Given the description of an element on the screen output the (x, y) to click on. 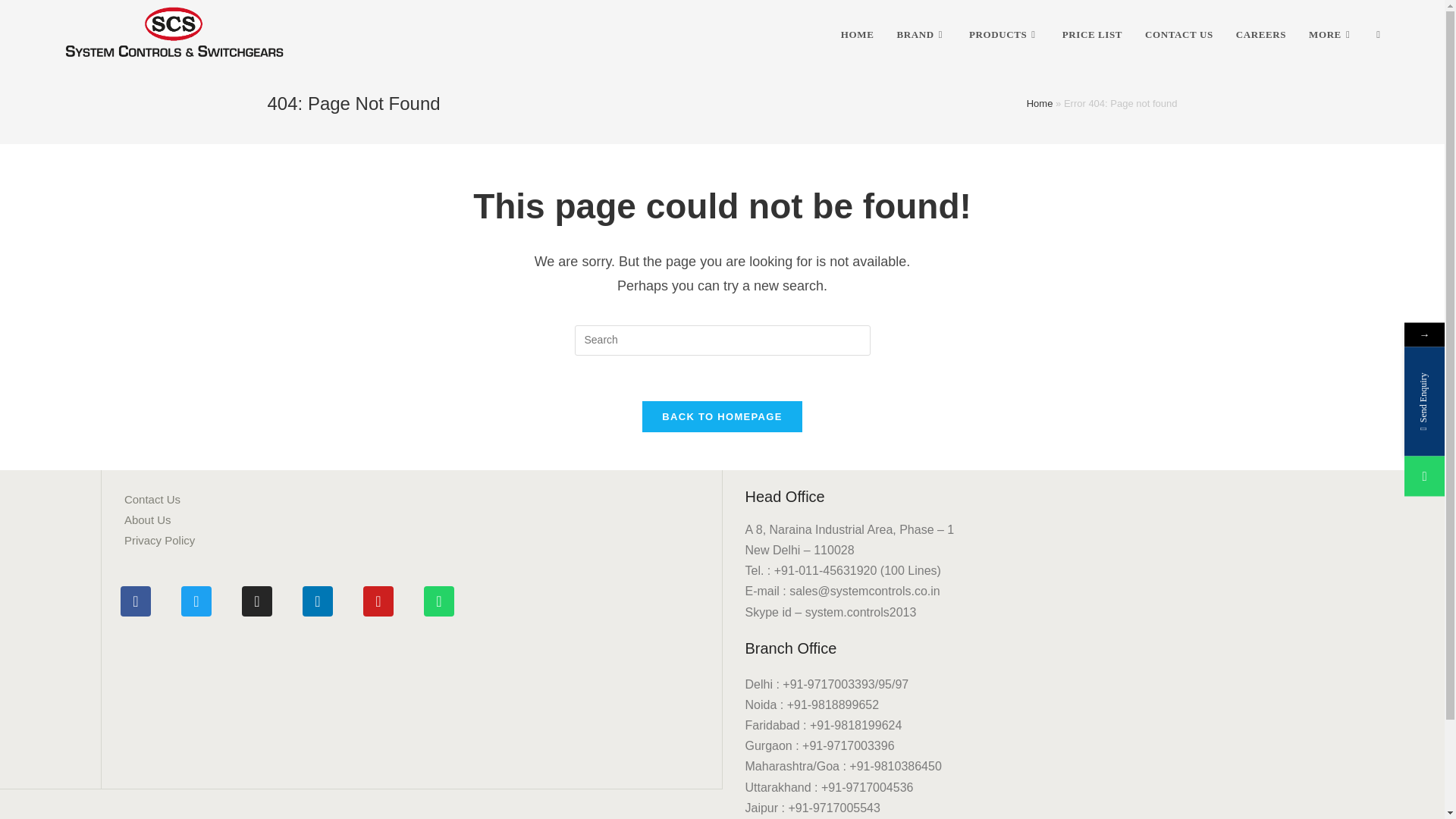
BRAND (921, 34)
HOME (857, 34)
